Given the description of an element on the screen output the (x, y) to click on. 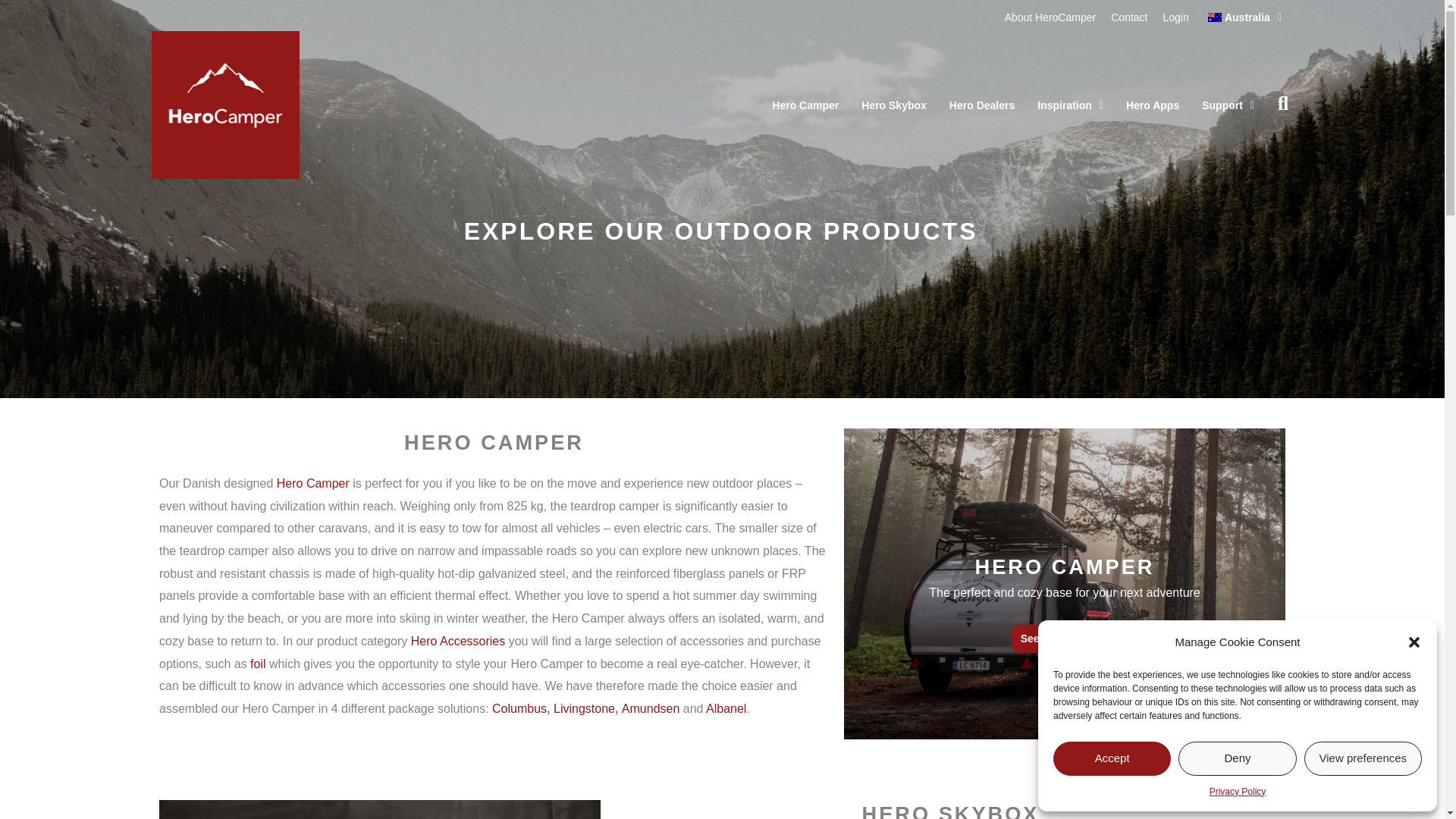
View preferences (1363, 758)
About HeroCamper (1050, 17)
Contact (1128, 17)
Hero Apps (1153, 105)
Hero Skybox (893, 105)
Inspiration (1070, 105)
Privacy Policy (1237, 791)
Hero Camper (805, 105)
Hero Dealers (981, 105)
Accept (1111, 758)
Login (1176, 17)
Australia (1244, 17)
Australia (1244, 17)
Deny (1236, 758)
